Given the description of an element on the screen output the (x, y) to click on. 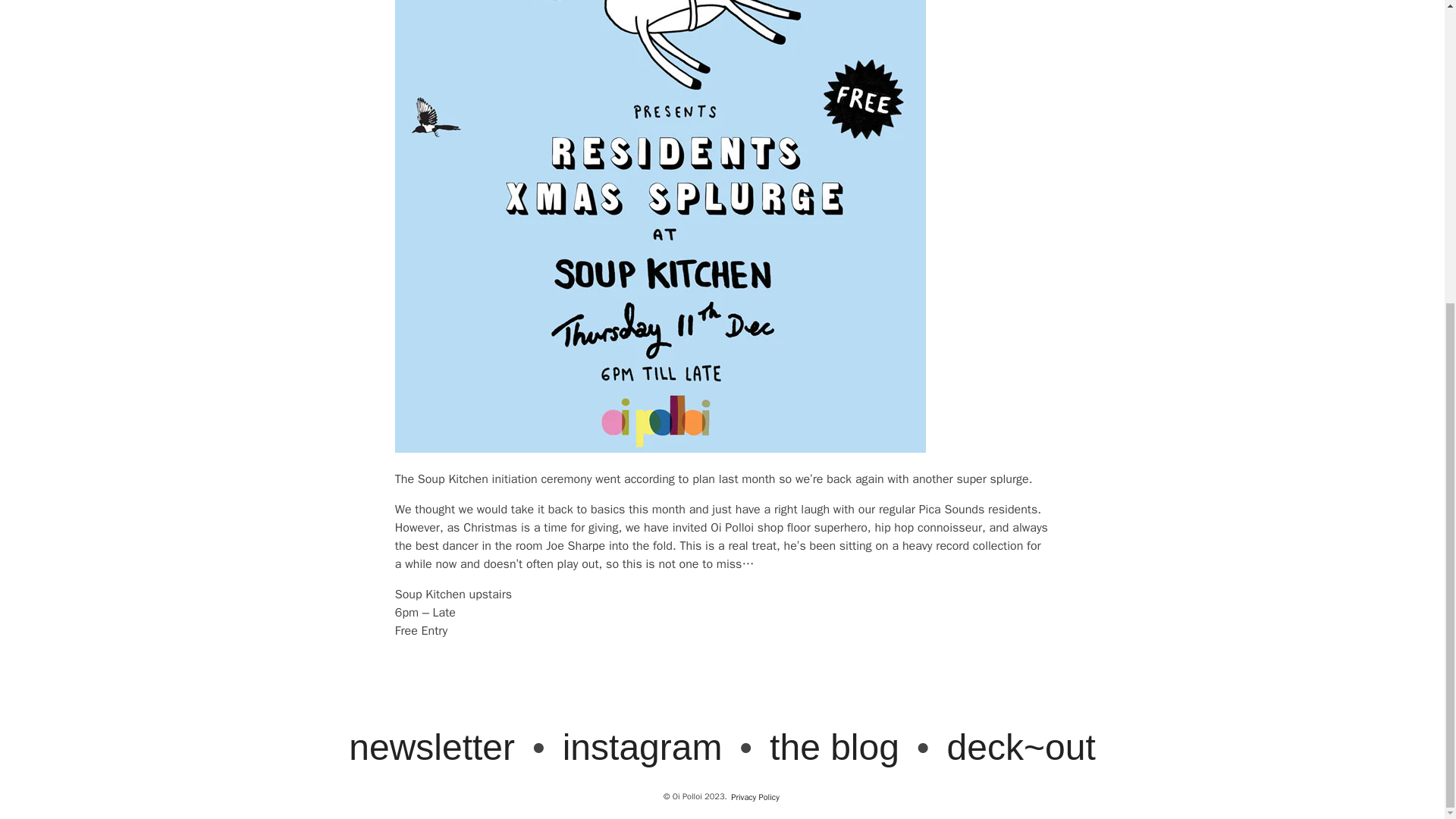
the blog (834, 746)
Privacy Policy (754, 796)
instagram (641, 746)
newsletter (432, 746)
